Given the description of an element on the screen output the (x, y) to click on. 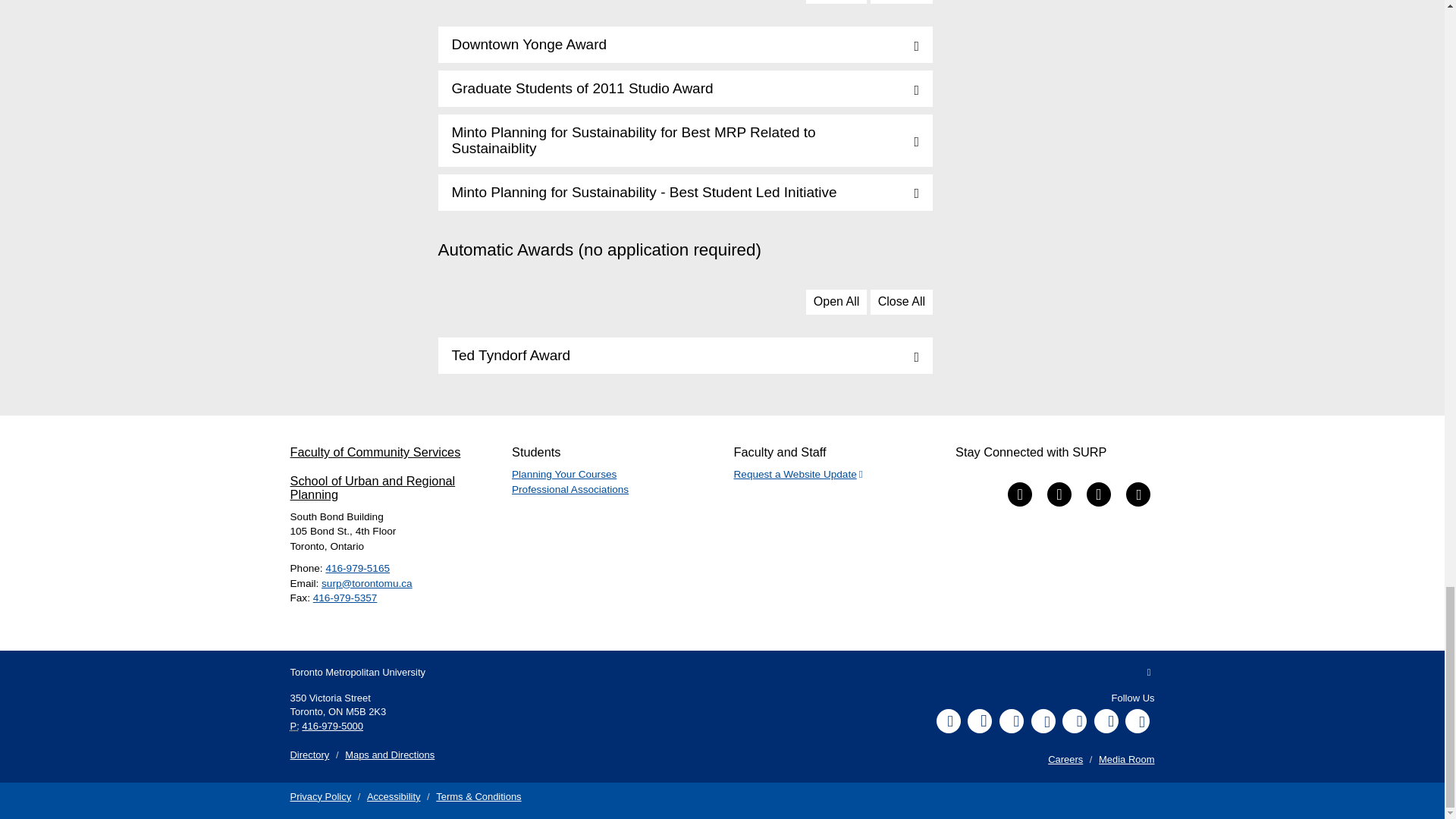
Threads (1137, 721)
Instagram (979, 721)
linkedin (1019, 494)
Tiktok (1106, 721)
twitter (1058, 494)
LinkedIn (1074, 721)
Facebook (948, 721)
instagram (1098, 494)
X (1010, 721)
YouTube (1042, 721)
